Given the description of an element on the screen output the (x, y) to click on. 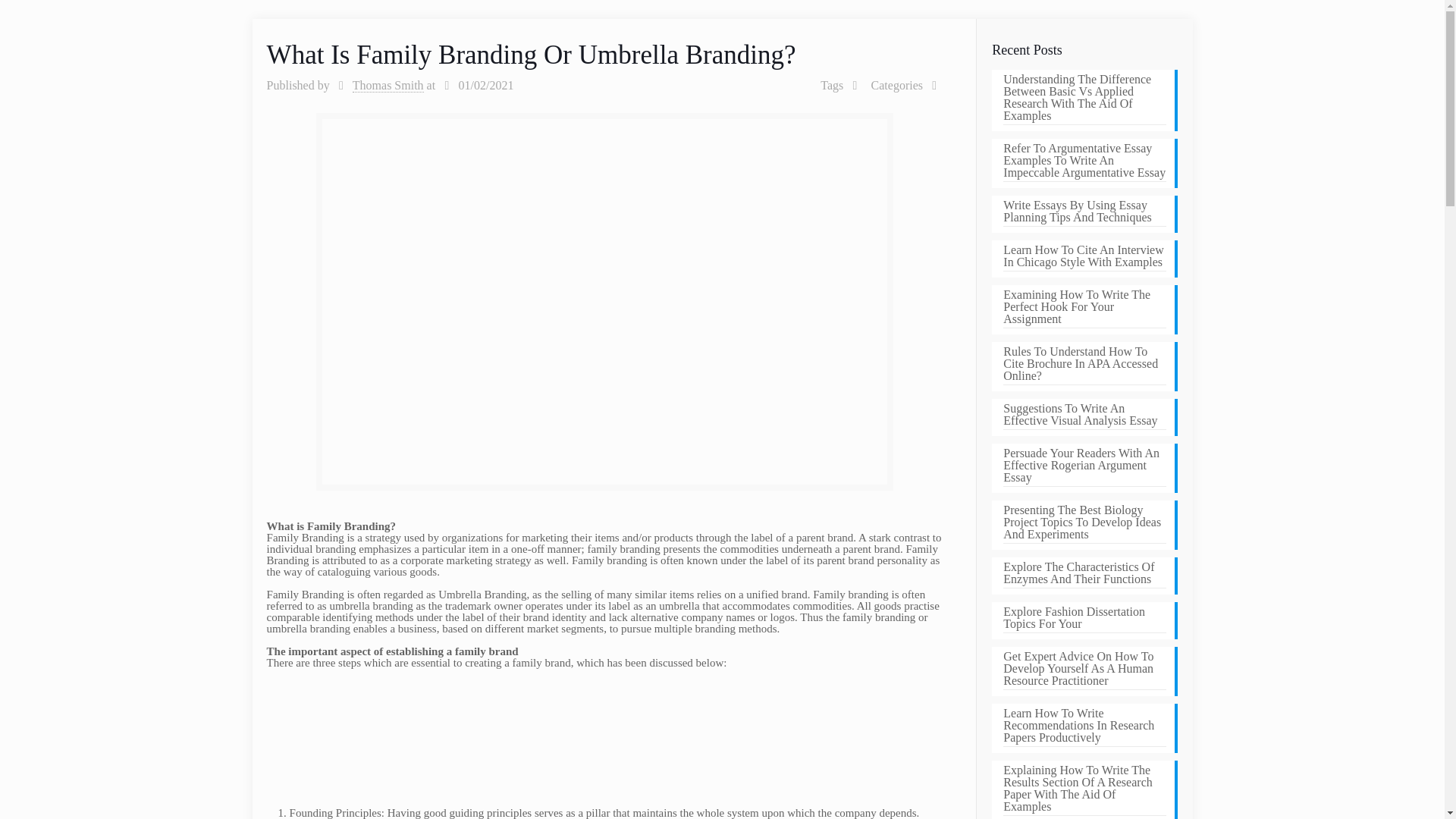
Thomas Smith (387, 85)
